Given the description of an element on the screen output the (x, y) to click on. 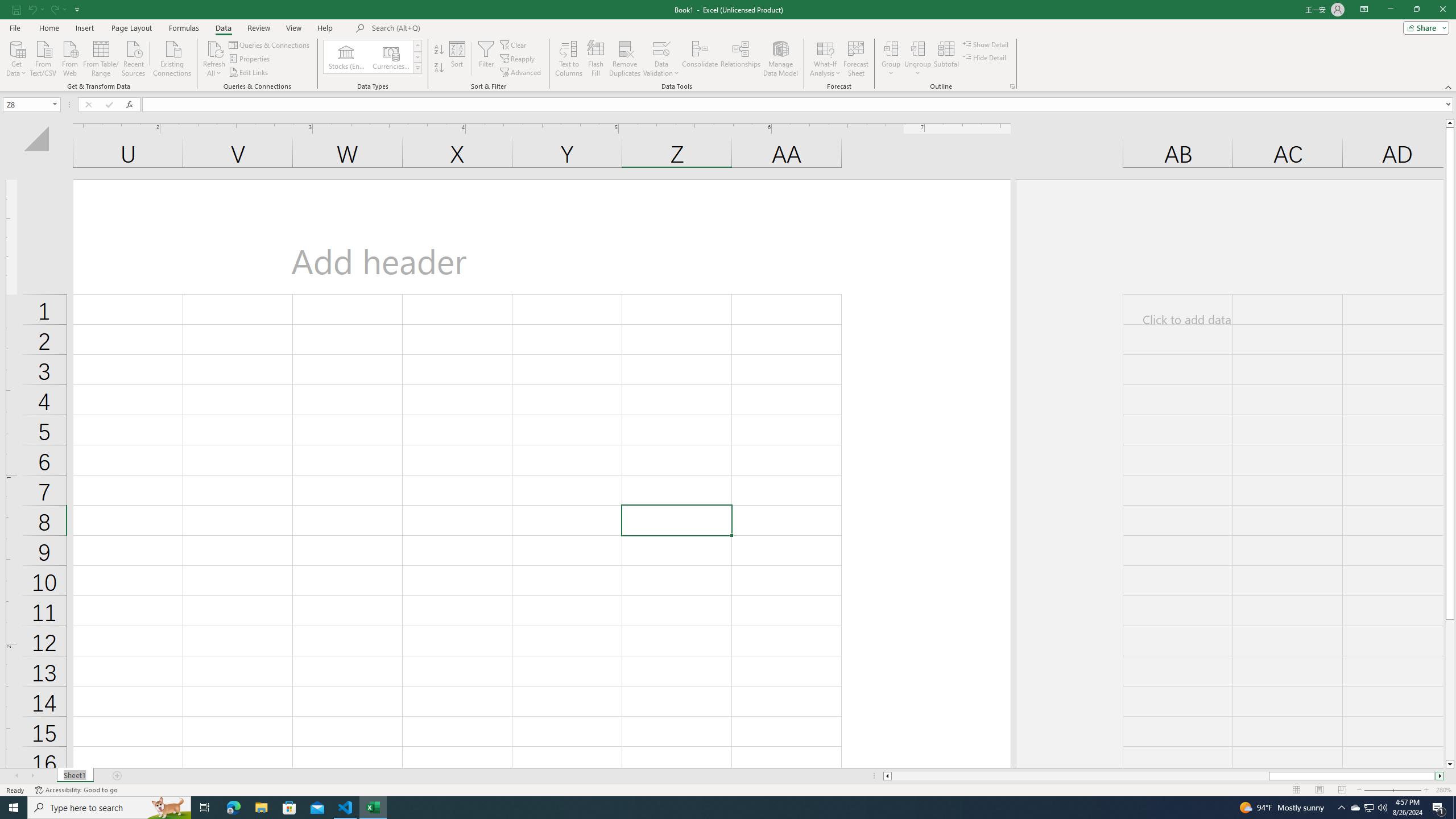
Group... (890, 48)
Advanced... (520, 72)
Sheet Tab (74, 775)
Redo (53, 9)
Class: NetUIImage (418, 68)
Collapse the Ribbon (1448, 86)
Scroll Left (16, 775)
Column left (886, 775)
Hide Detail (985, 56)
Zoom In (1426, 790)
Line up (1449, 122)
Formulas (184, 28)
From Text/CSV (43, 57)
Save (16, 9)
Forecast Sheet (856, 58)
